Given the description of an element on the screen output the (x, y) to click on. 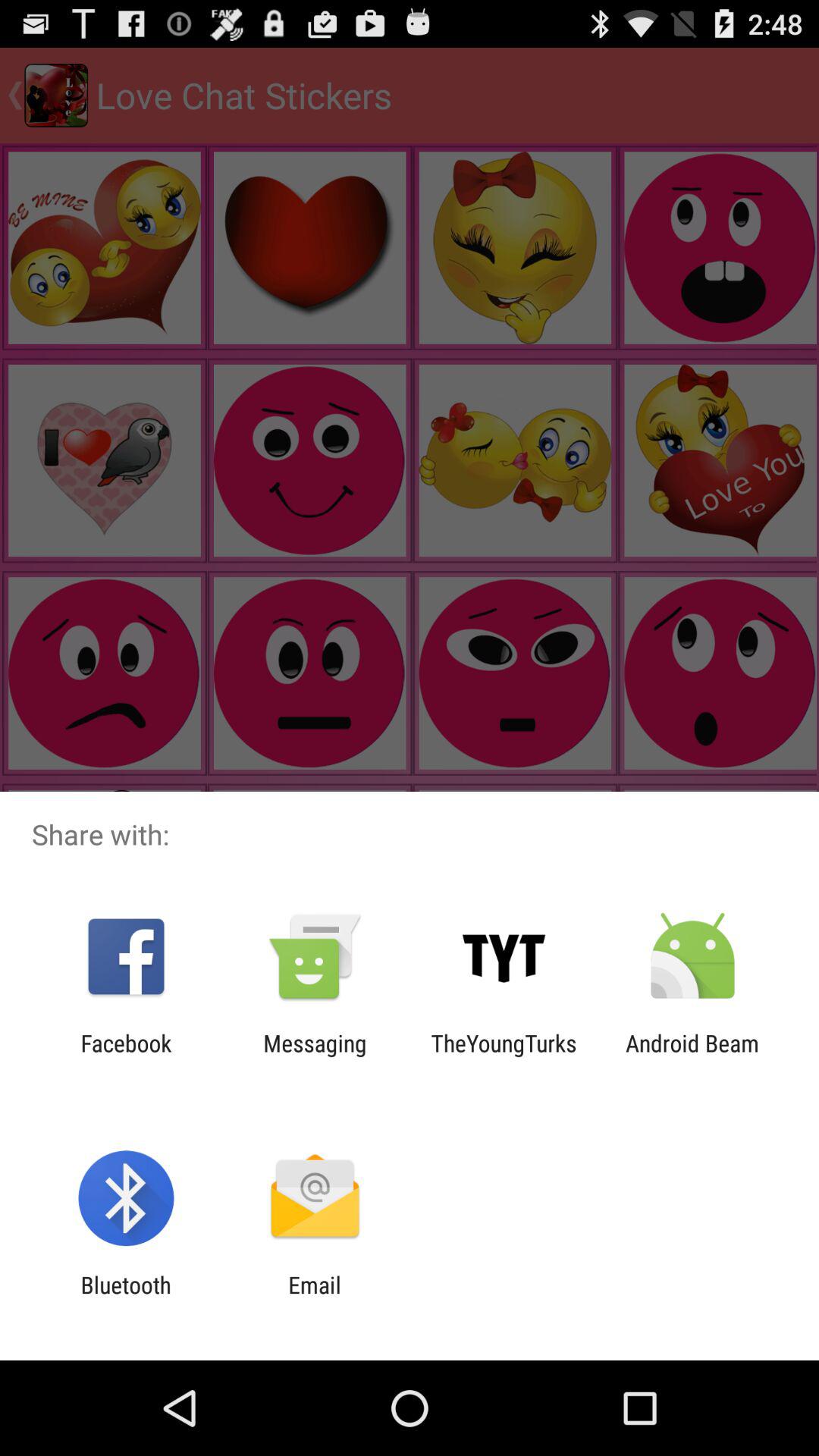
launch the app next to the android beam icon (503, 1056)
